Given the description of an element on the screen output the (x, y) to click on. 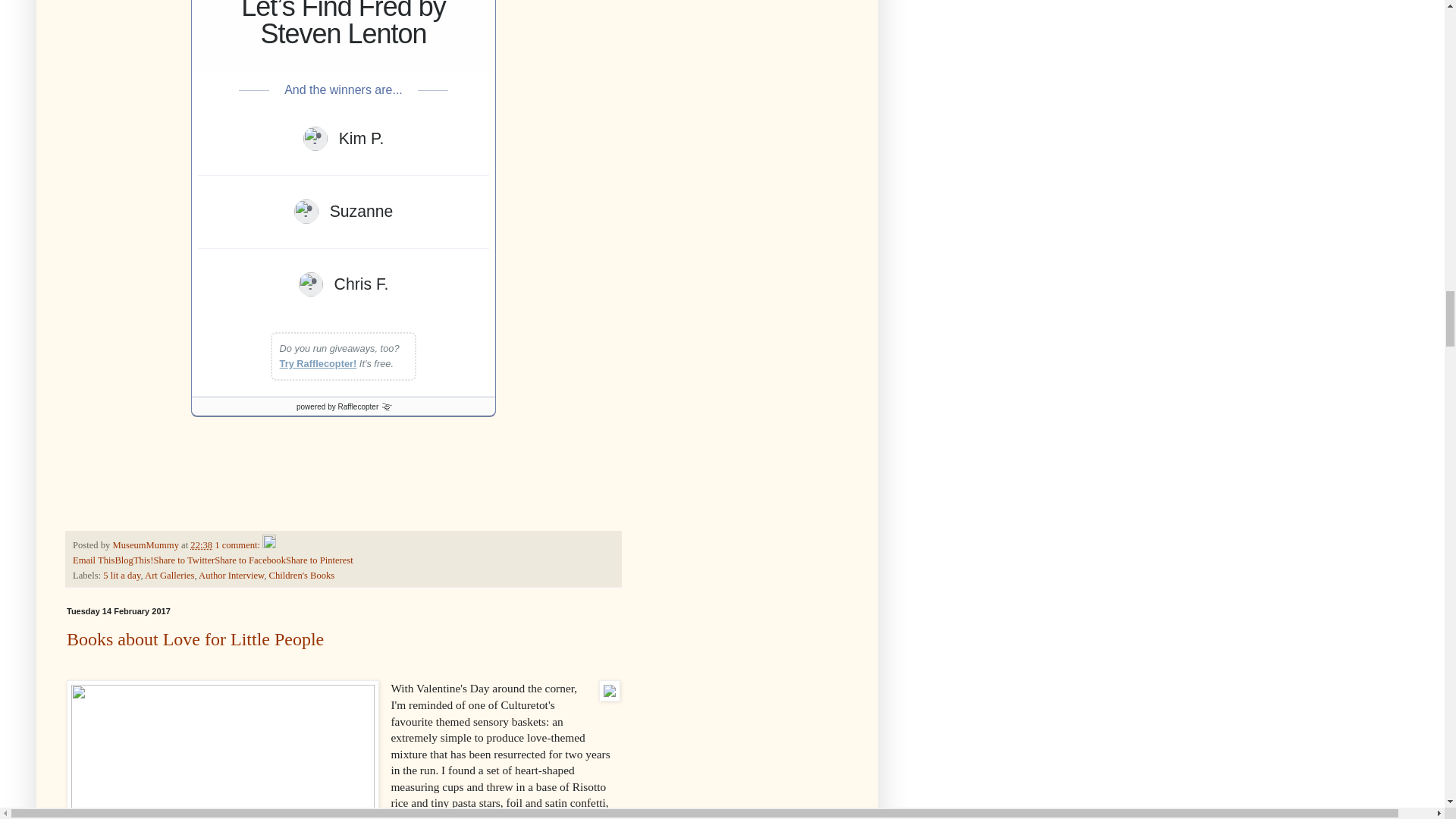
Art Galleries (168, 575)
Author Interview (230, 575)
Share to Facebook (249, 560)
Email This (93, 560)
Books about Love for Little People (194, 639)
Share to Pinterest (319, 560)
Share to Pinterest (319, 560)
author profile (146, 544)
MuseumMummy (146, 544)
Share to Twitter (183, 560)
1 comment: (238, 544)
22:38 (201, 544)
Children's Books (301, 575)
5 lit a day (121, 575)
Email This (93, 560)
